Given the description of an element on the screen output the (x, y) to click on. 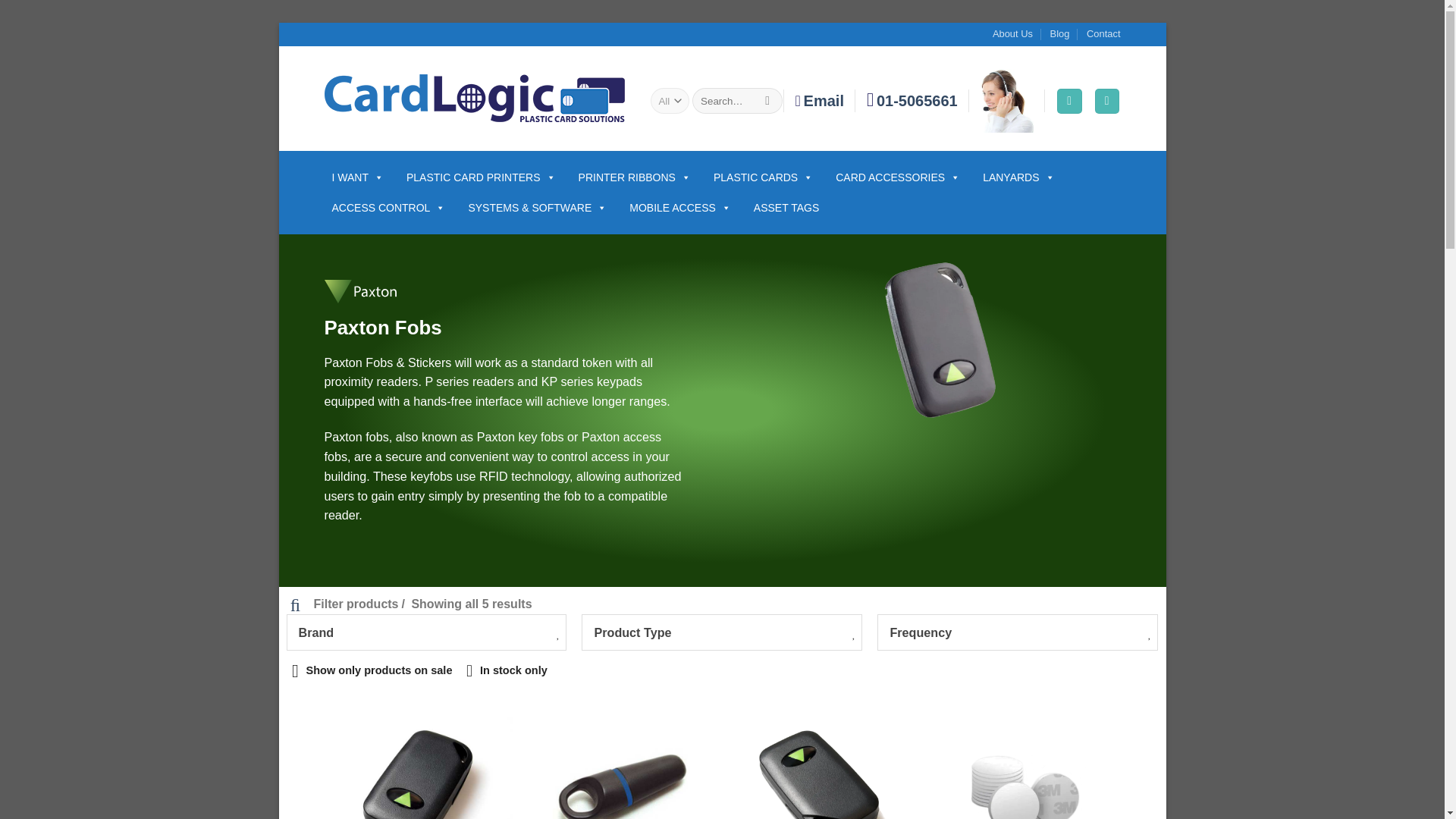
I WANT (357, 177)
PRINTER RIBBONS (634, 177)
PLASTIC CARD PRINTERS (480, 177)
Search (767, 100)
Email (818, 102)
